Given the description of an element on the screen output the (x, y) to click on. 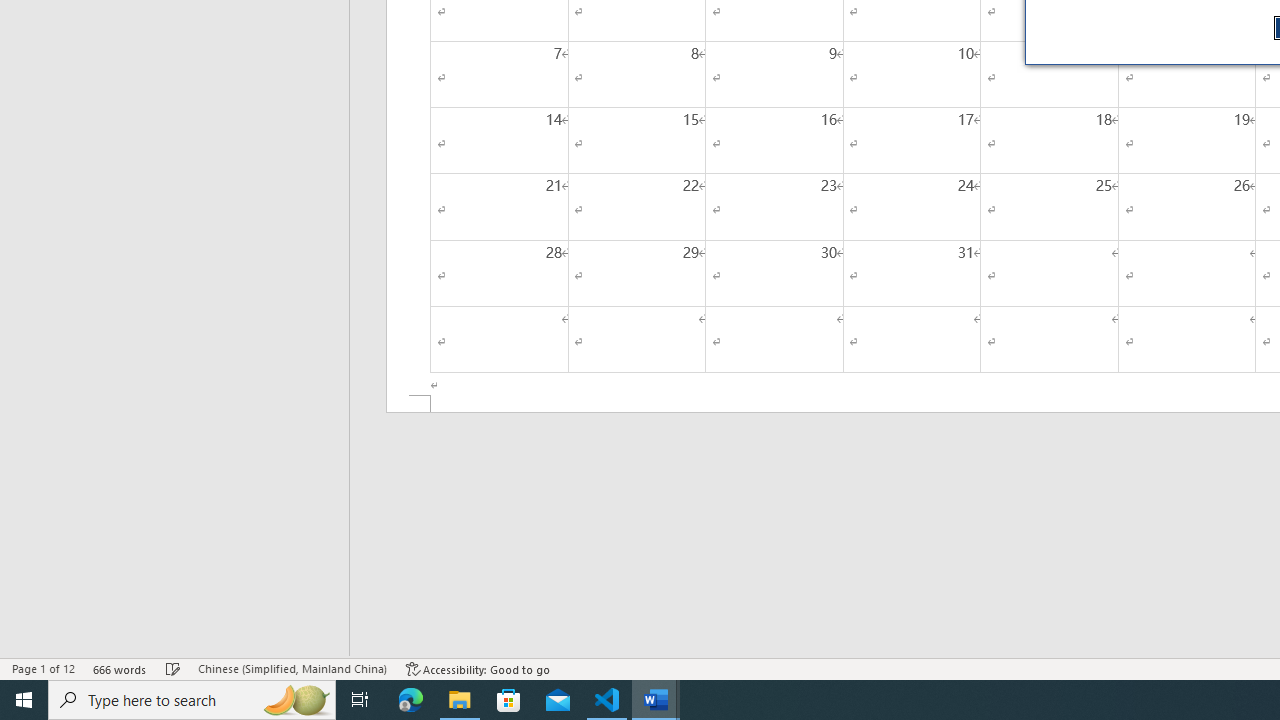
File Explorer - 1 running window (460, 699)
